Given the description of an element on the screen output the (x, y) to click on. 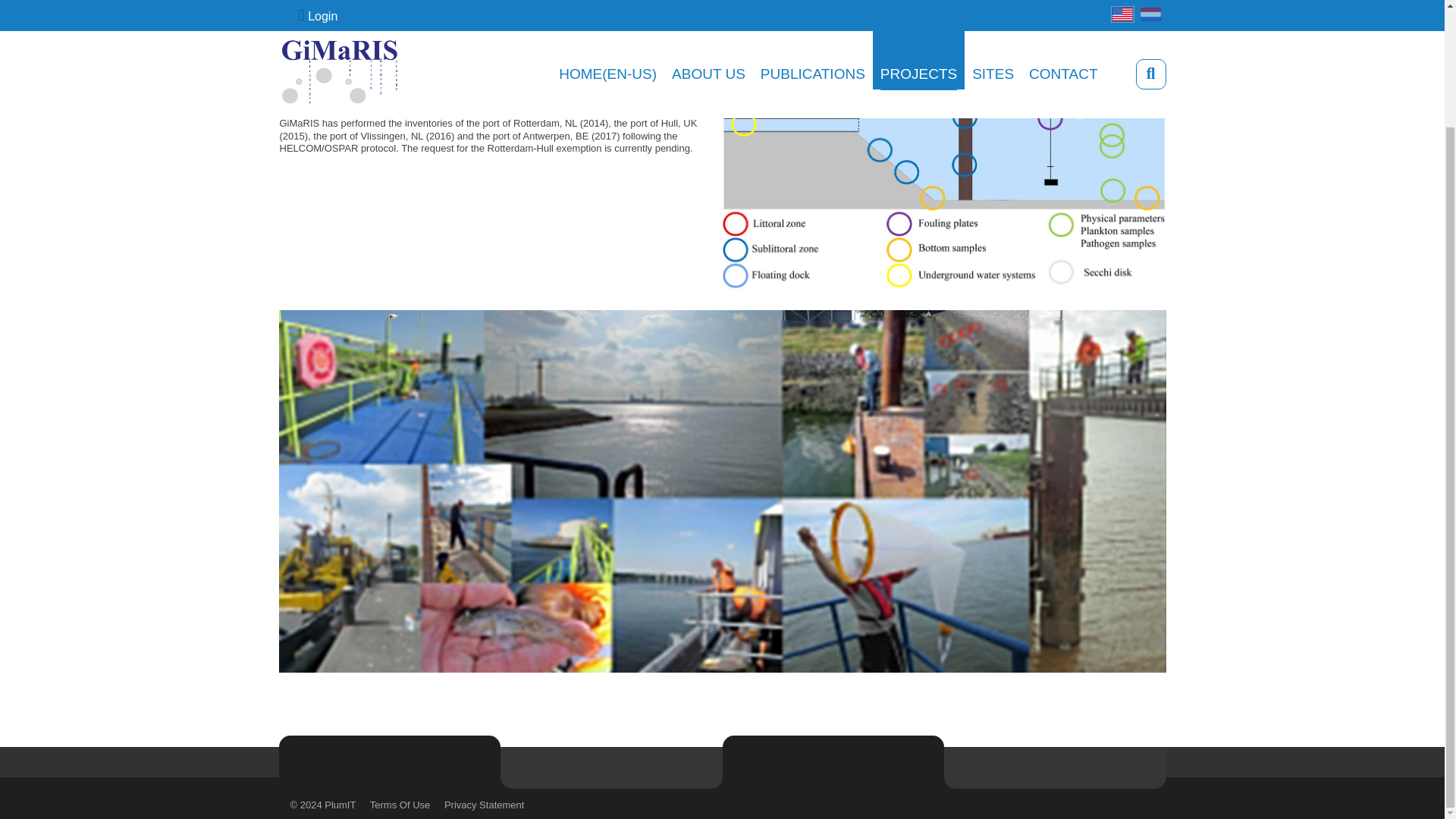
Privacy Statement (484, 804)
Terms Of Use (399, 804)
